Given the description of an element on the screen output the (x, y) to click on. 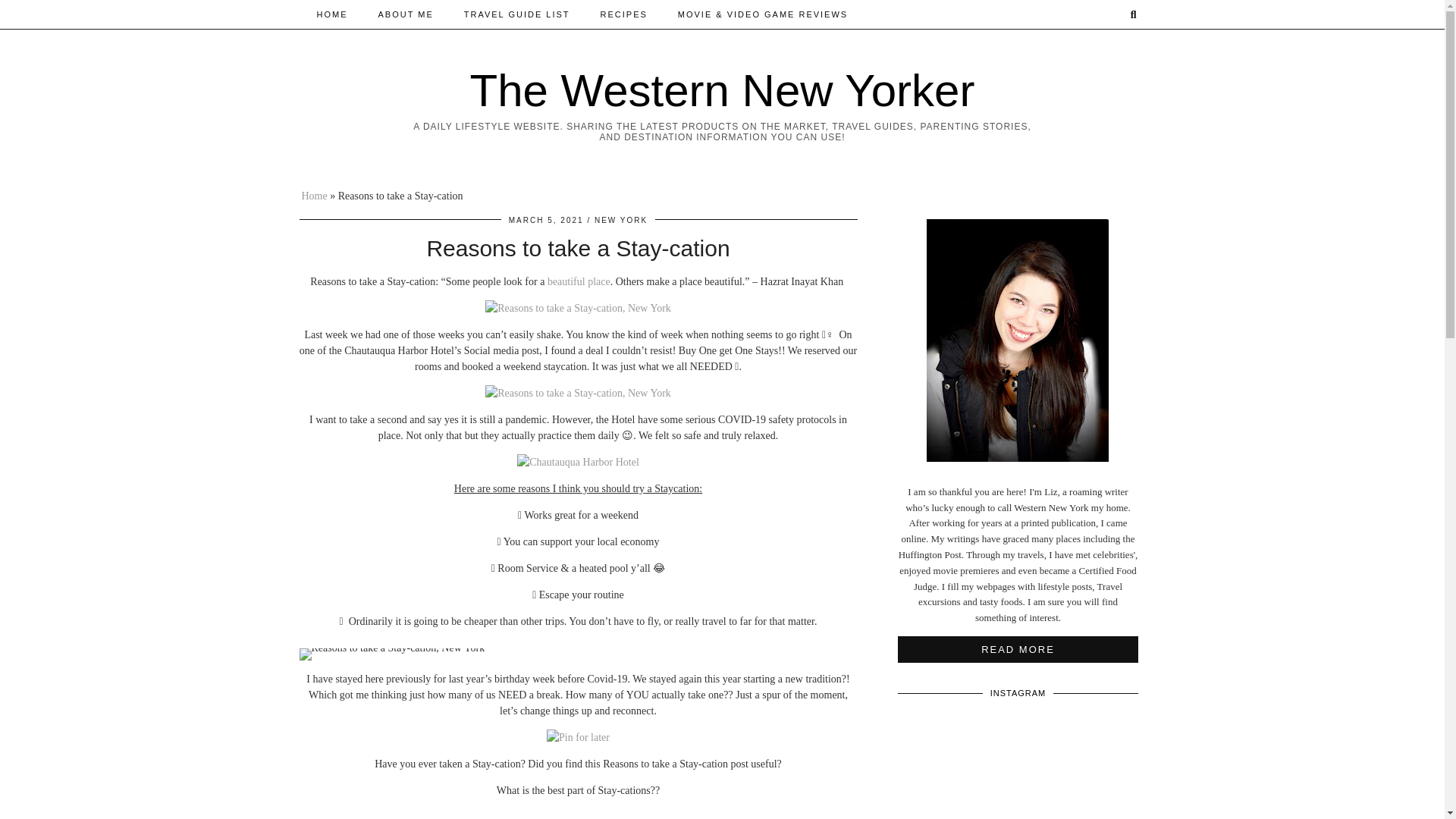
Reasons to take a Stay-cation, New York (391, 654)
Reasons to take a Stay-cation, New York (577, 392)
ABOUT ME (405, 14)
beautiful place (578, 281)
The Western New Yorker (722, 90)
TRAVEL GUIDE LIST (516, 14)
HOME (331, 14)
Chautauqua Harbor Hotel (577, 462)
Reasons to take a Stay-cation, New York (577, 308)
RECIPES (623, 14)
The Western New Yorker (722, 90)
Home (314, 195)
NEW YORK (620, 220)
Pin for later (578, 737)
